Given the description of an element on the screen output the (x, y) to click on. 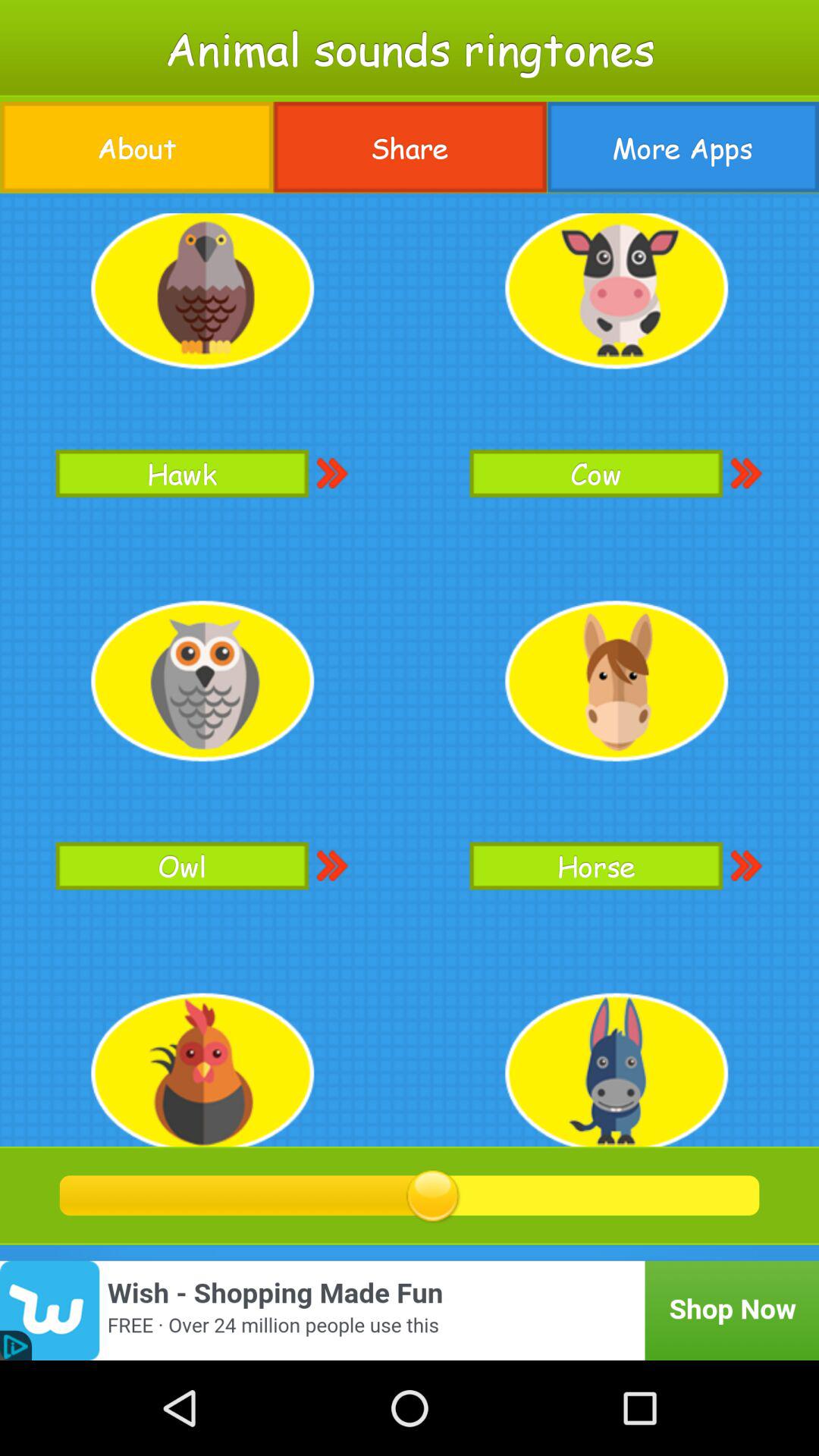
open item below the animal sounds ringtones app (682, 147)
